Given the description of an element on the screen output the (x, y) to click on. 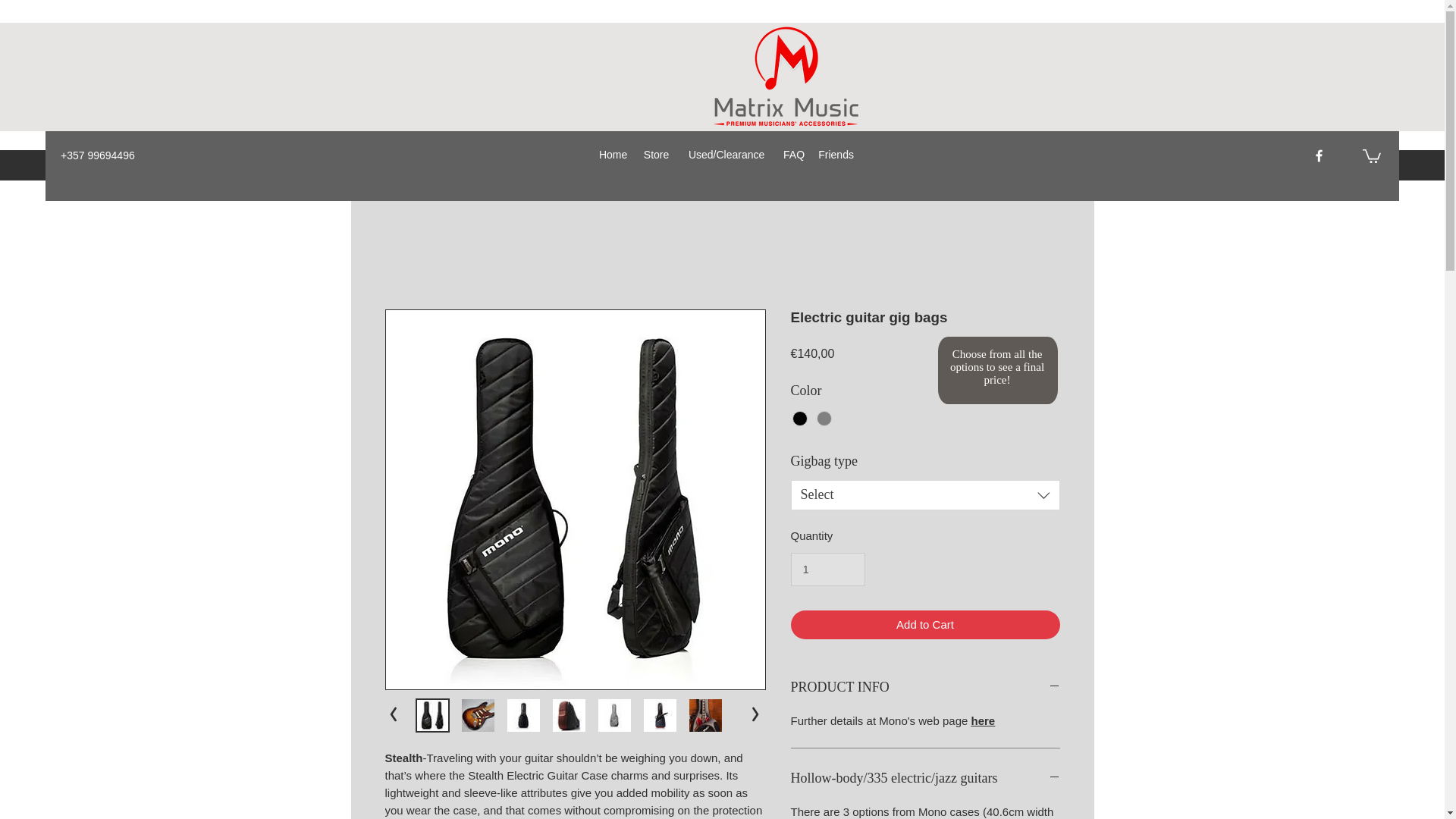
Select (924, 494)
PRODUCT INFO (924, 687)
here (982, 720)
Store (655, 155)
Add to Cart (924, 624)
Home (612, 155)
1 (827, 569)
FAQ (793, 155)
Friends (835, 155)
